Given the description of an element on the screen output the (x, y) to click on. 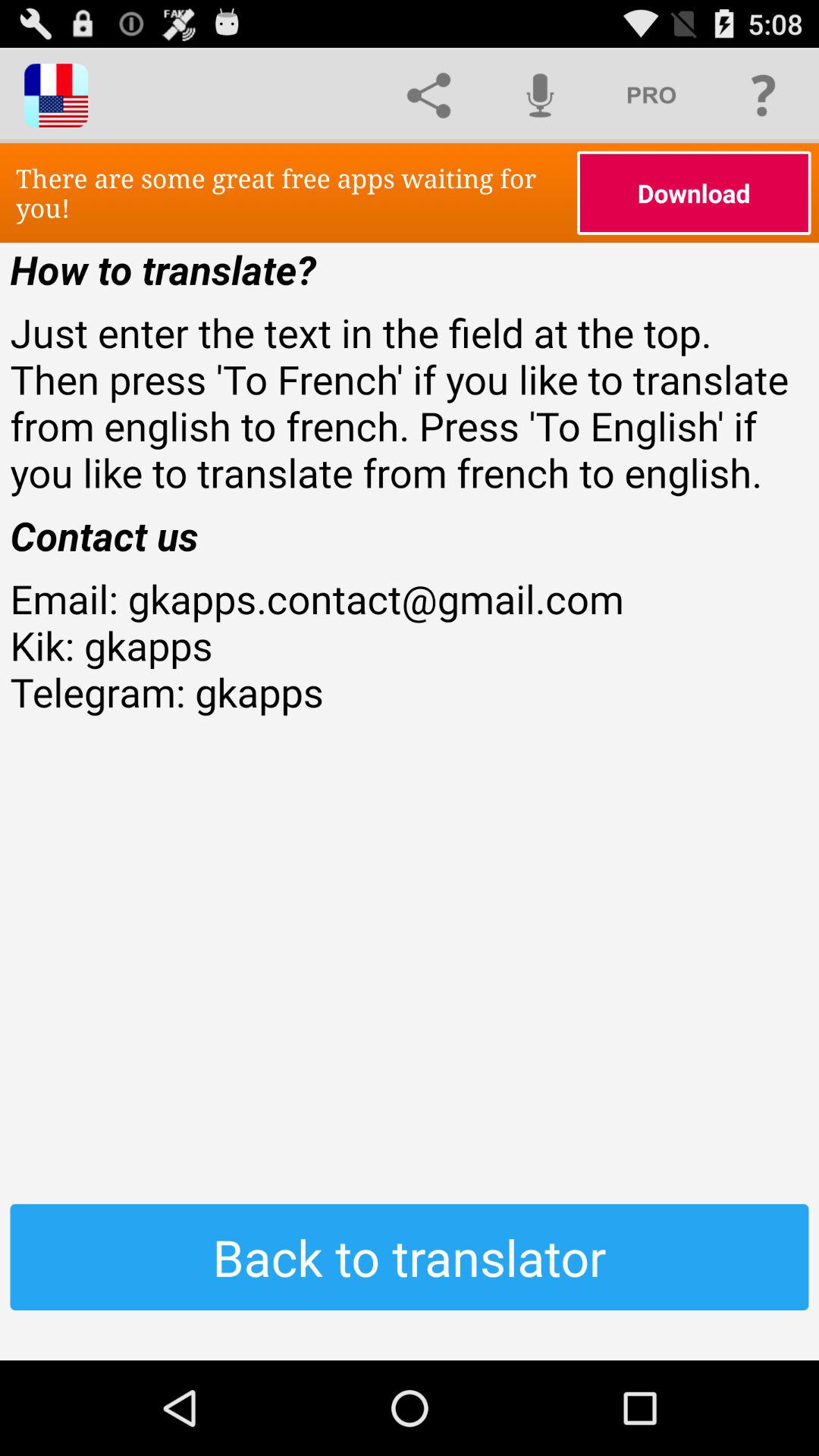
select the email gkapps contact at the center (409, 691)
